Given the description of an element on the screen output the (x, y) to click on. 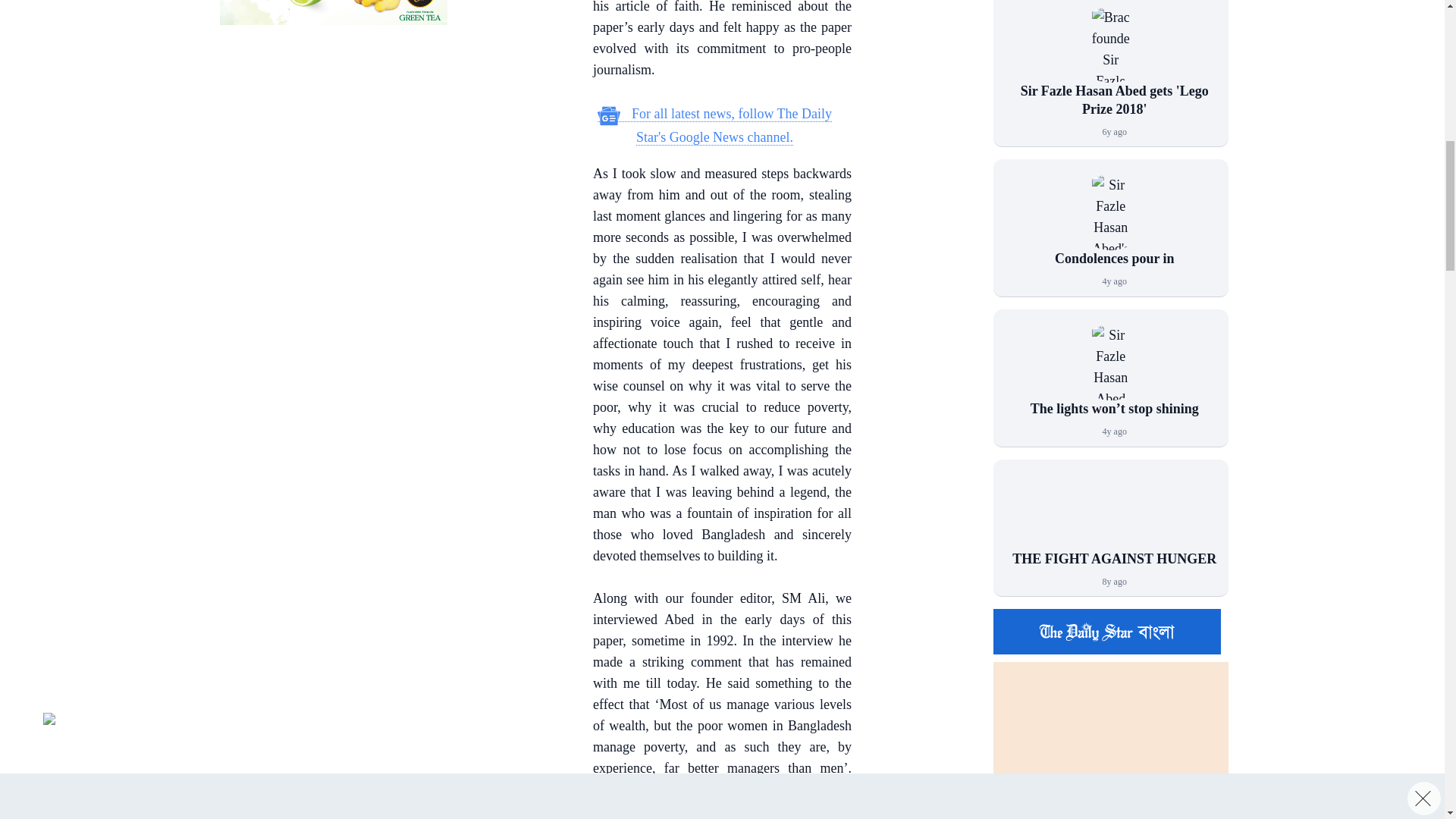
3rd party ad content (332, 135)
Brac founder Sir Fazle Hasan Abed (1110, 44)
Sir Fazle Hasan Abed's death (1110, 212)
3rd party ad content (332, 12)
